Given the description of an element on the screen output the (x, y) to click on. 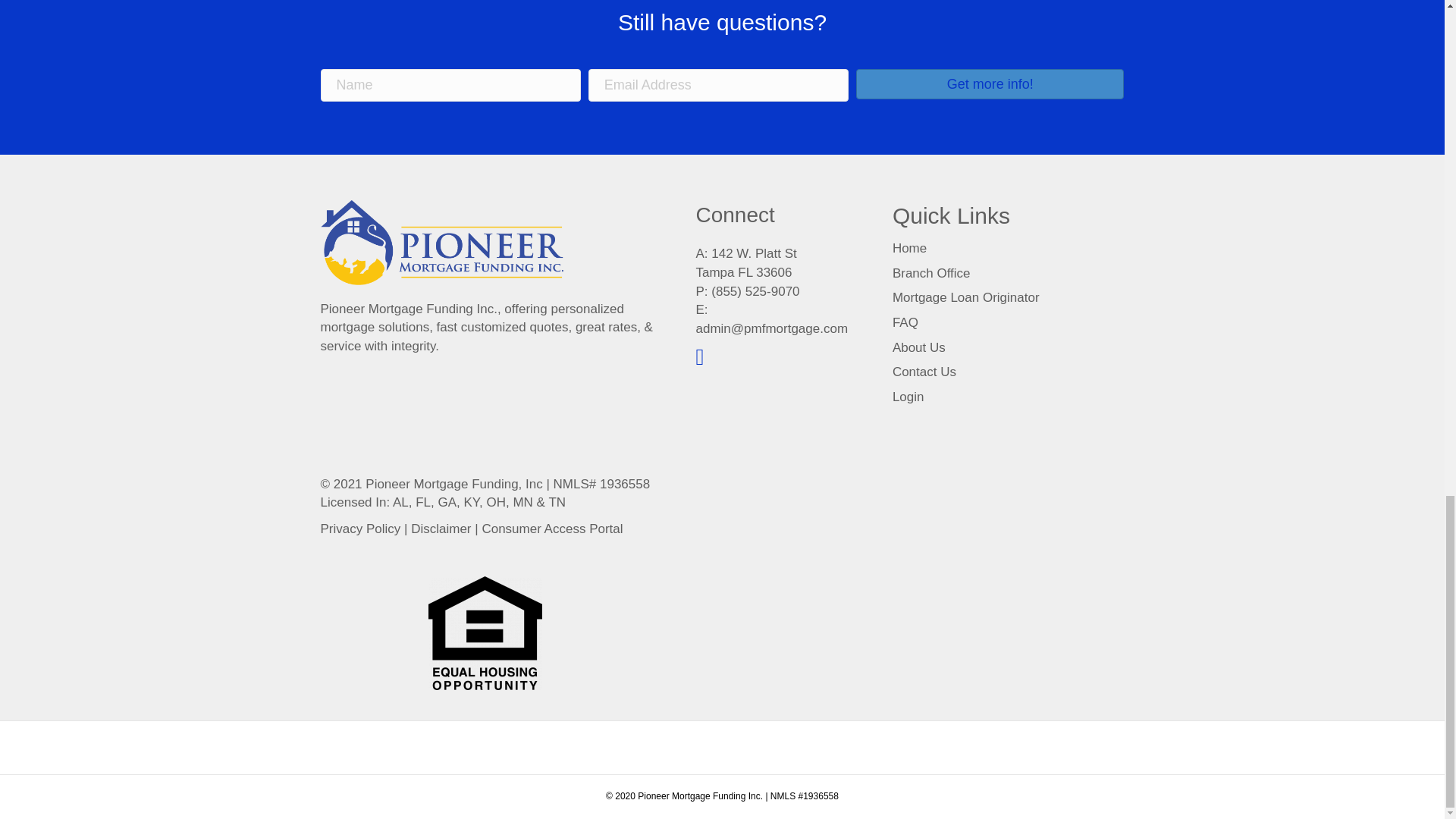
Mortgage Loan Originator (965, 297)
GA (447, 502)
KY (472, 502)
Branch Office (931, 273)
OH (495, 502)
FL (422, 502)
Contact Us (924, 371)
MN (522, 502)
Consumer Access Portal (552, 528)
Login (908, 396)
